Given the description of an element on the screen output the (x, y) to click on. 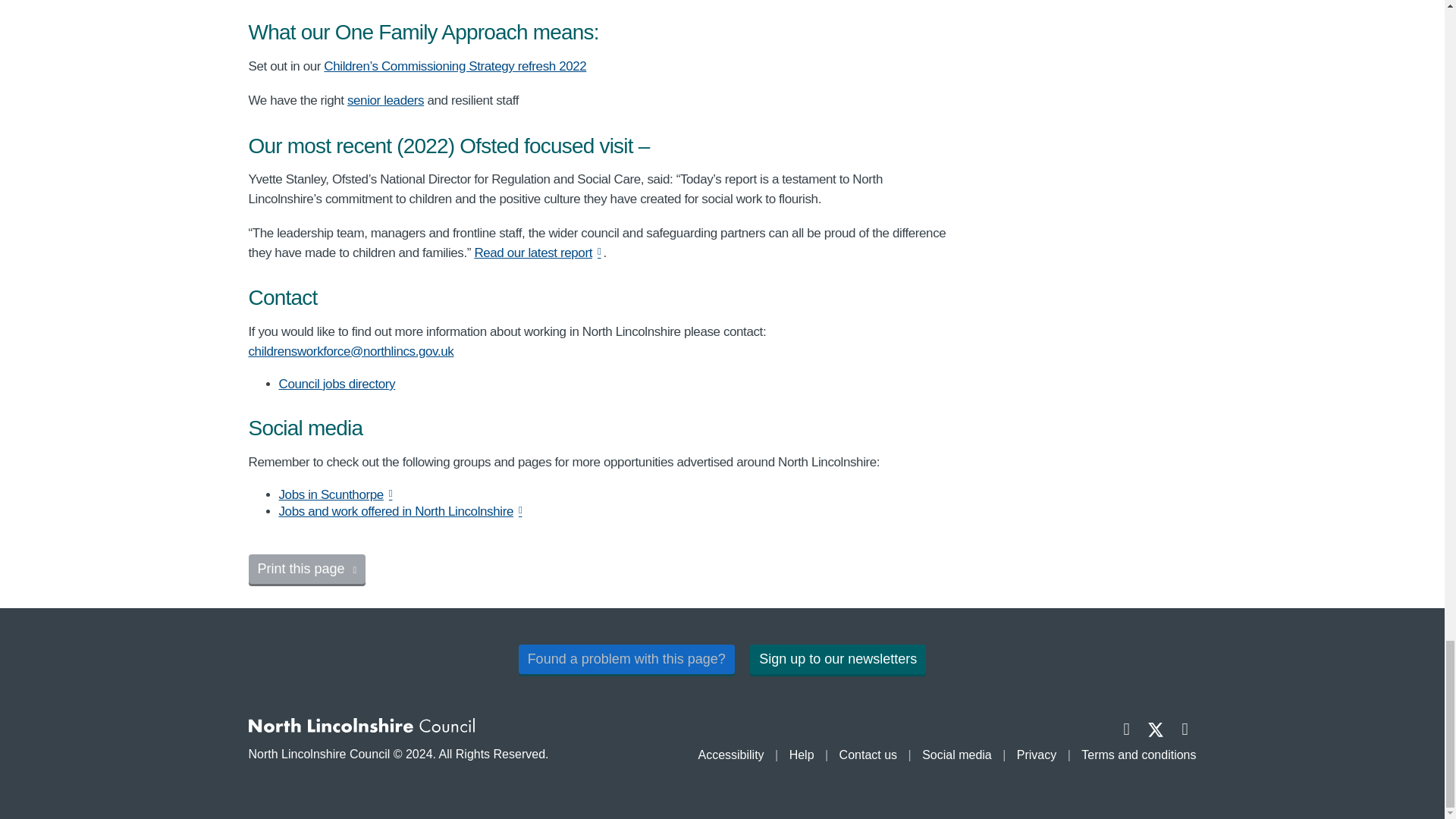
Found a problem with this page? (626, 659)
Print this page (307, 568)
Jobs and work offered in North Lincolnshire (401, 511)
senior leaders (385, 100)
Jobs in Scunthorpe (336, 494)
Council jobs directory (337, 383)
Read our latest report (538, 252)
Sign up to our newsletters (837, 659)
